Given the description of an element on the screen output the (x, y) to click on. 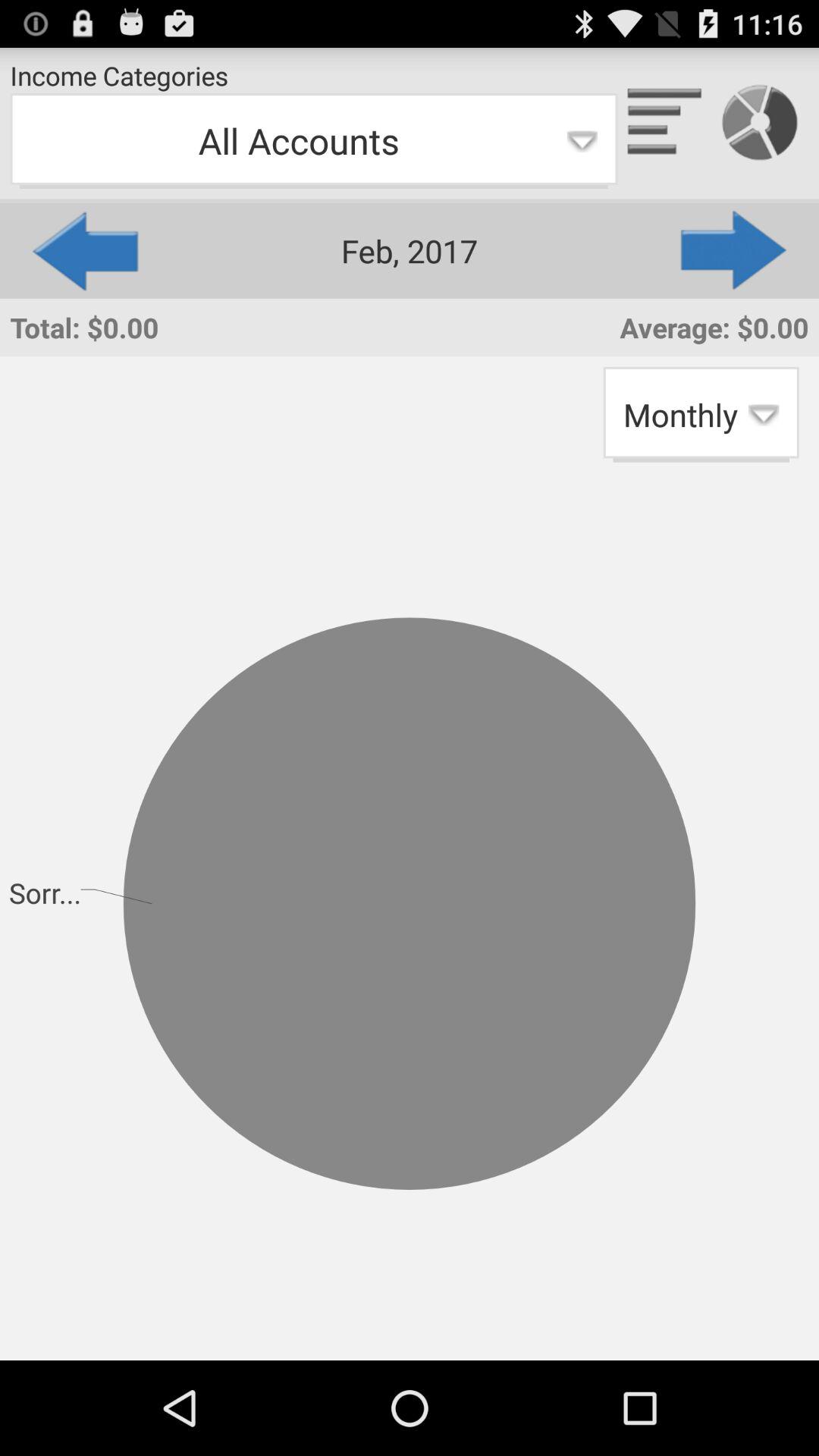
turn off monthly button (701, 414)
